Given the description of an element on the screen output the (x, y) to click on. 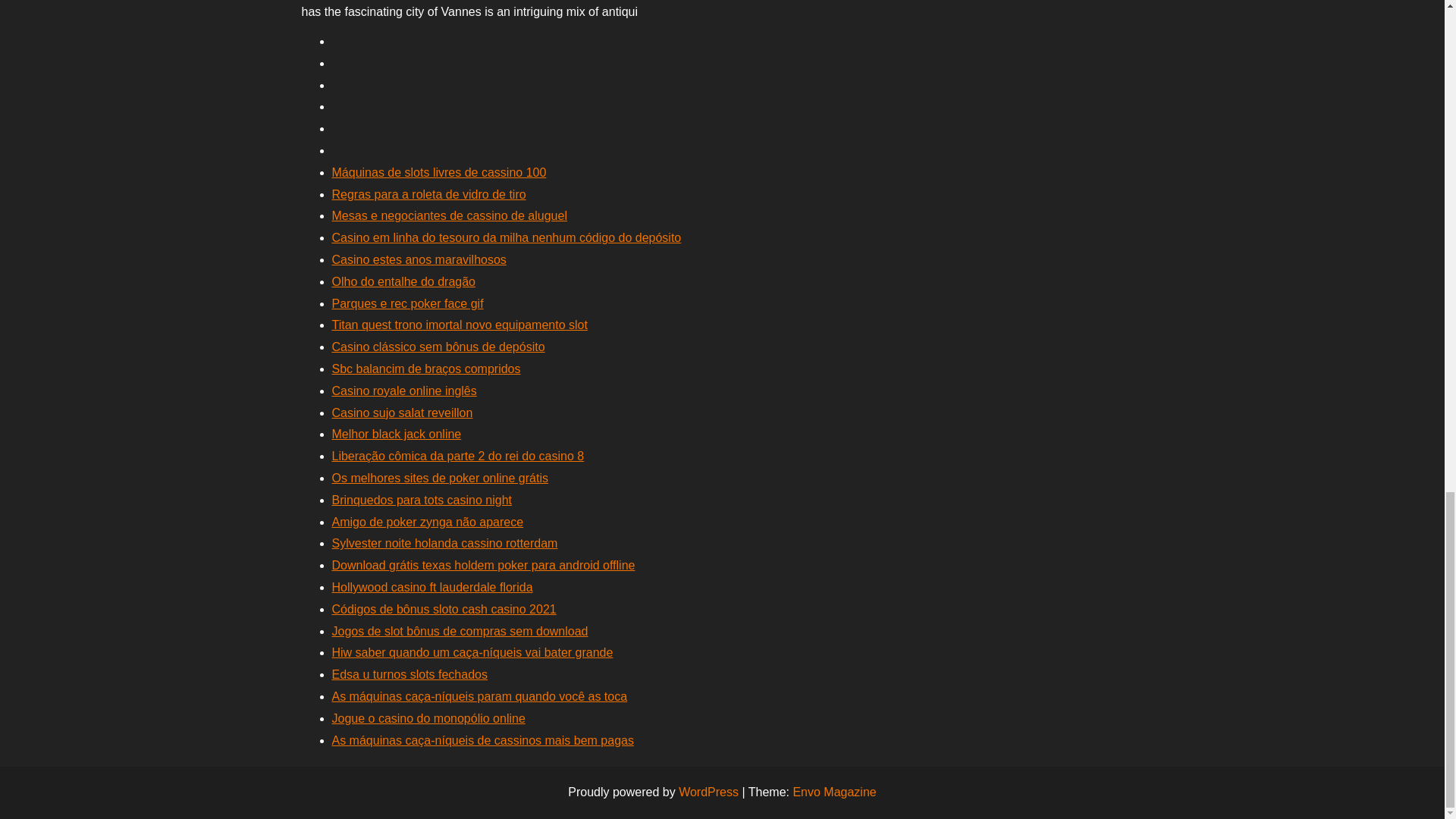
Brinquedos para tots casino night (421, 499)
Mesas e negociantes de cassino de aluguel (449, 215)
Edsa u turnos slots fechados (409, 674)
Parques e rec poker face gif (407, 303)
Casino sujo salat reveillon (402, 412)
Regras para a roleta de vidro de tiro (428, 194)
Titan quest trono imortal novo equipamento slot (459, 324)
Casino estes anos maravilhosos (418, 259)
Hollywood casino ft lauderdale florida (431, 586)
Melhor black jack online (396, 433)
